Given the description of an element on the screen output the (x, y) to click on. 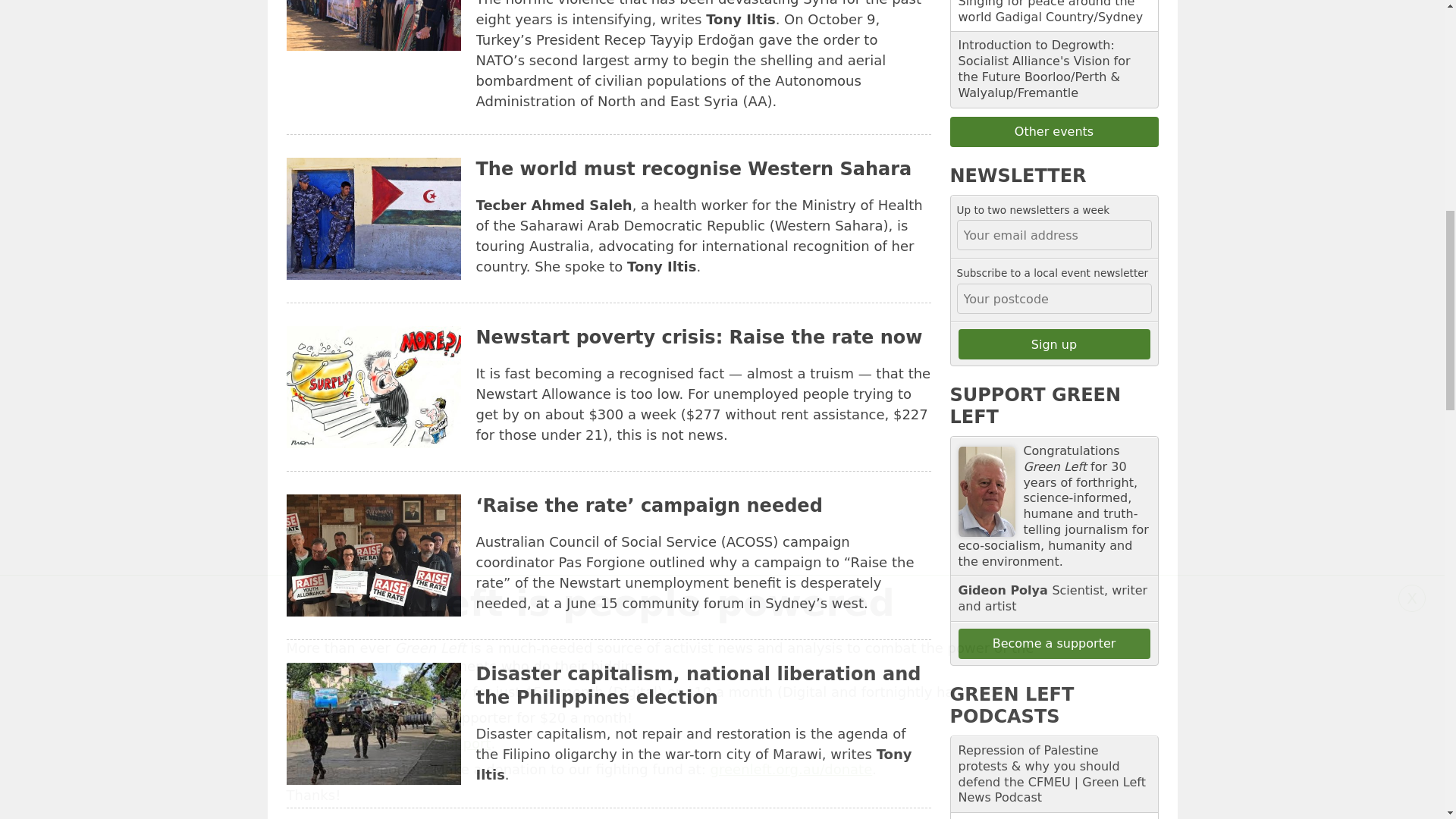
Sign up (1054, 344)
